Given the description of an element on the screen output the (x, y) to click on. 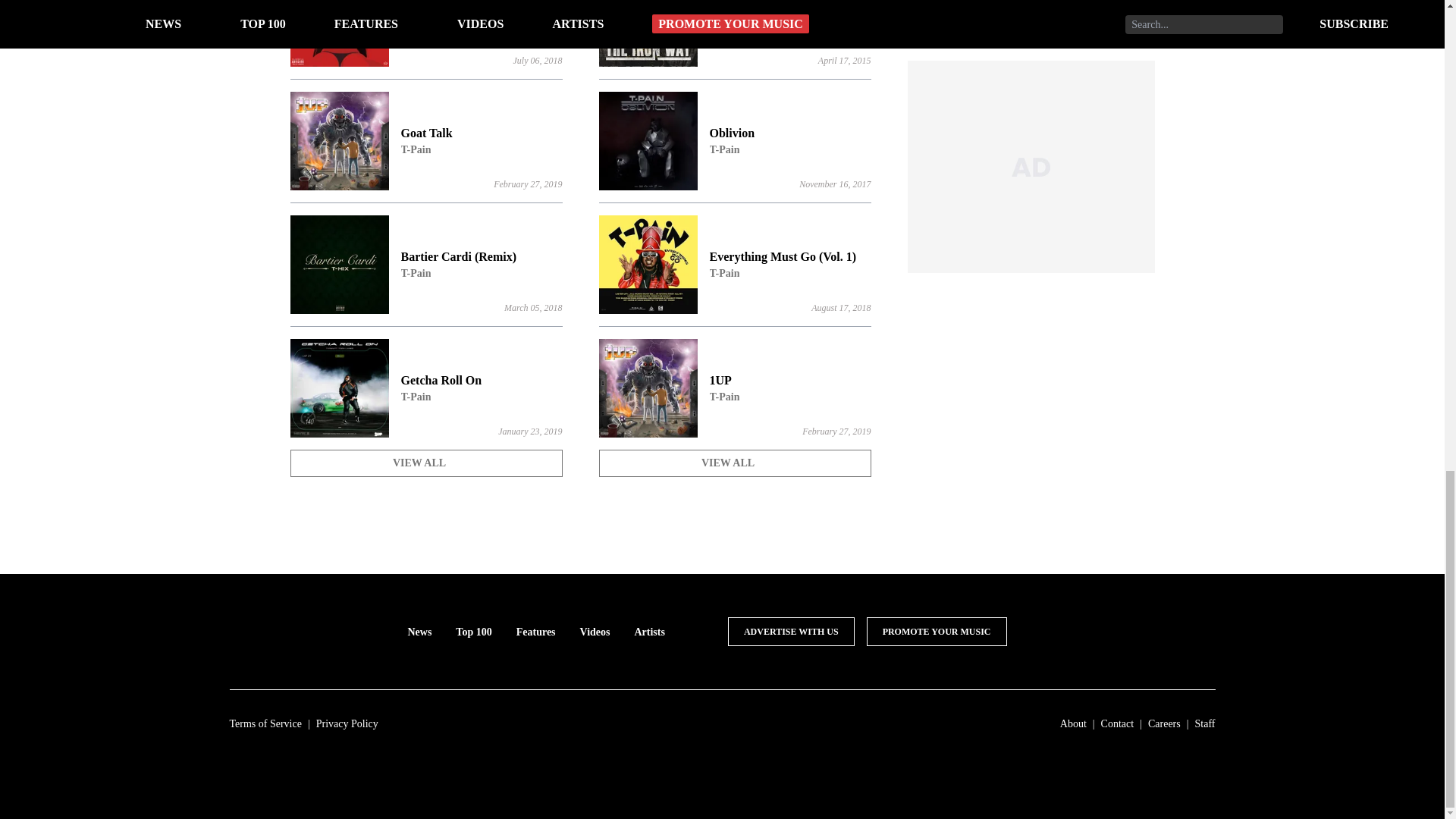
March 05, 2018 (734, 140)
February 27, 2019 (532, 307)
August 17, 2018 (425, 140)
July 06, 2018 (734, 388)
November 16, 2017 (527, 184)
April 17, 2015 (840, 307)
February 27, 2019 (537, 60)
VIEW ALL (834, 184)
January 23, 2019 (844, 60)
VIEW ALL (836, 430)
